Given the description of an element on the screen output the (x, y) to click on. 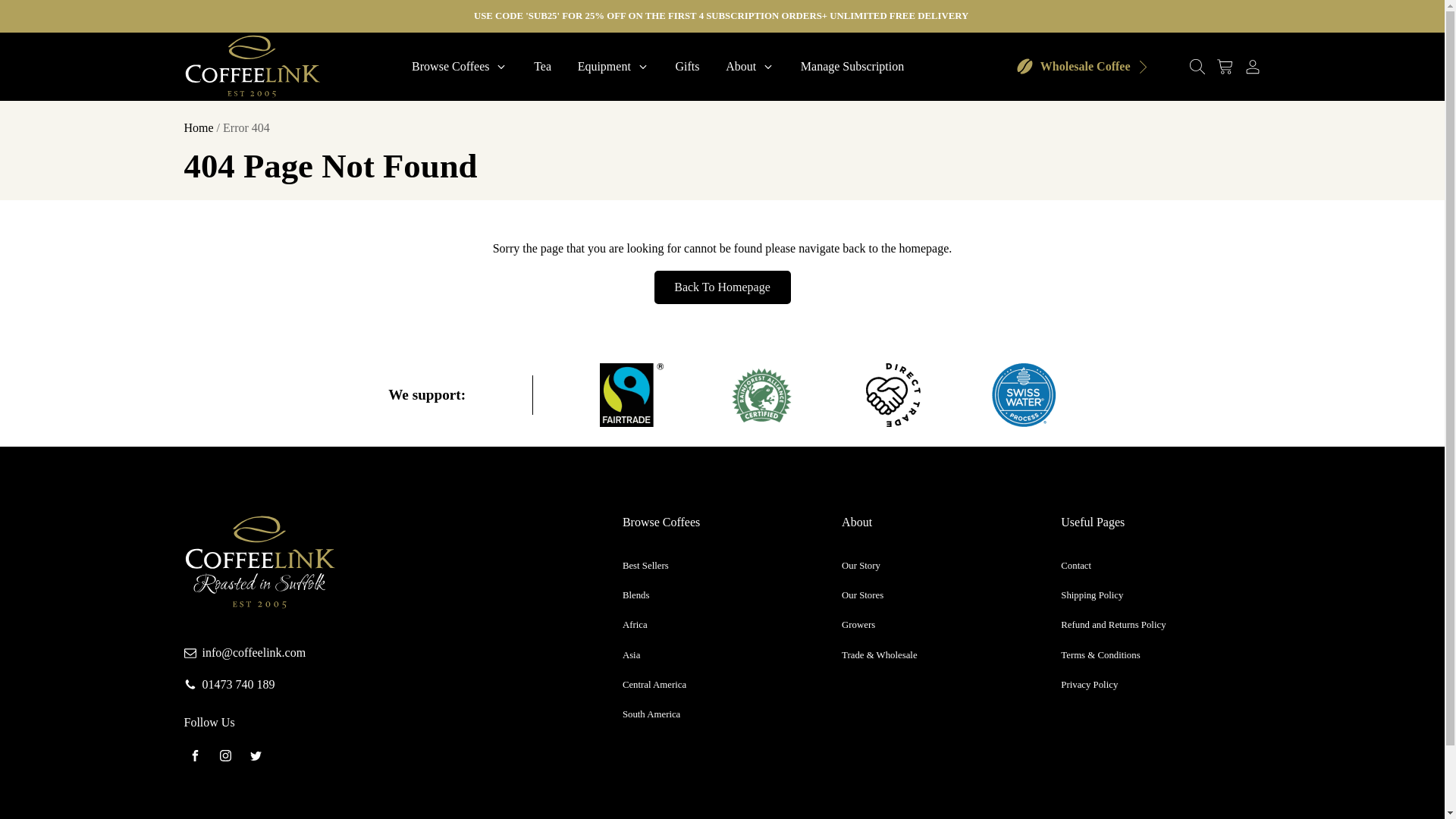
Tea (542, 66)
Gifts (687, 66)
Equipment (613, 66)
About (750, 66)
Browse Coffees (459, 66)
Manage Subscription (852, 66)
Wholesale Coffee (1082, 65)
